Given the description of an element on the screen output the (x, y) to click on. 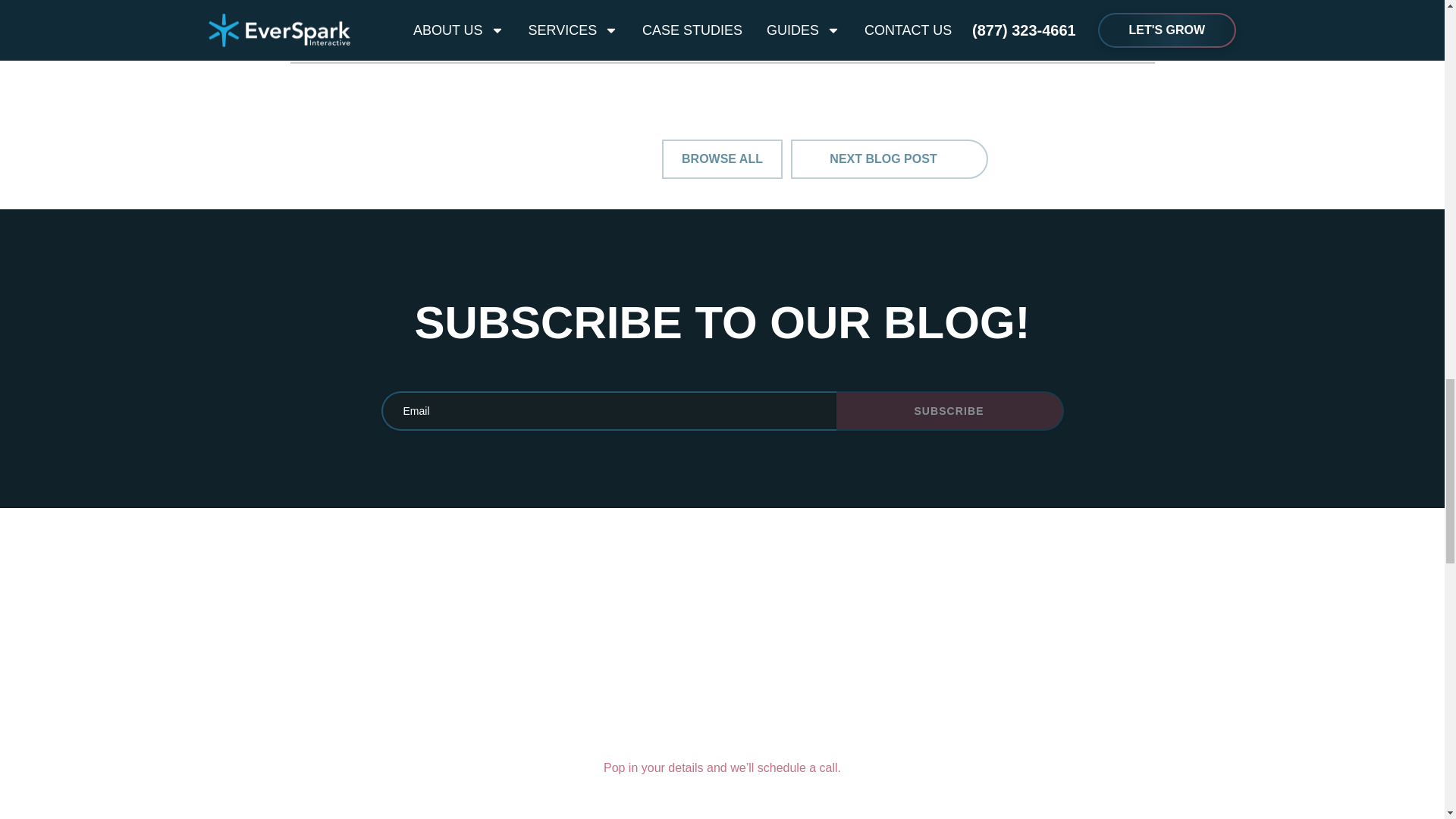
SUBSCRIBE (948, 410)
